Given the description of an element on the screen output the (x, y) to click on. 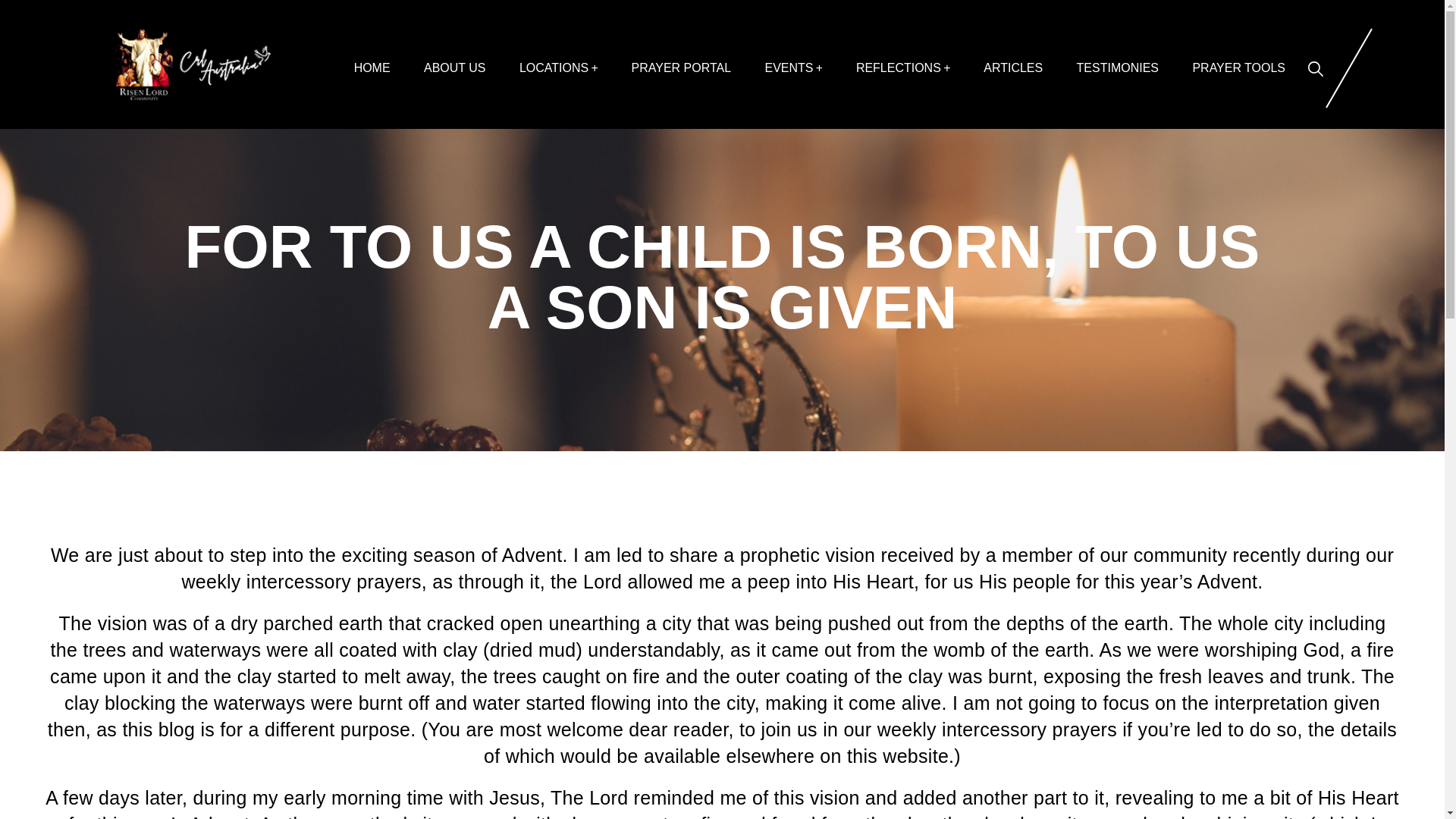
TESTIMONIES (1117, 68)
ARTICLES (1013, 68)
ABOUT US (454, 68)
HOME (372, 68)
PRAYER PORTAL (680, 68)
REFLECTIONS (903, 68)
LOCATIONS (557, 68)
PRAYER TOOLS (1238, 68)
EVENTS (793, 68)
